Given the description of an element on the screen output the (x, y) to click on. 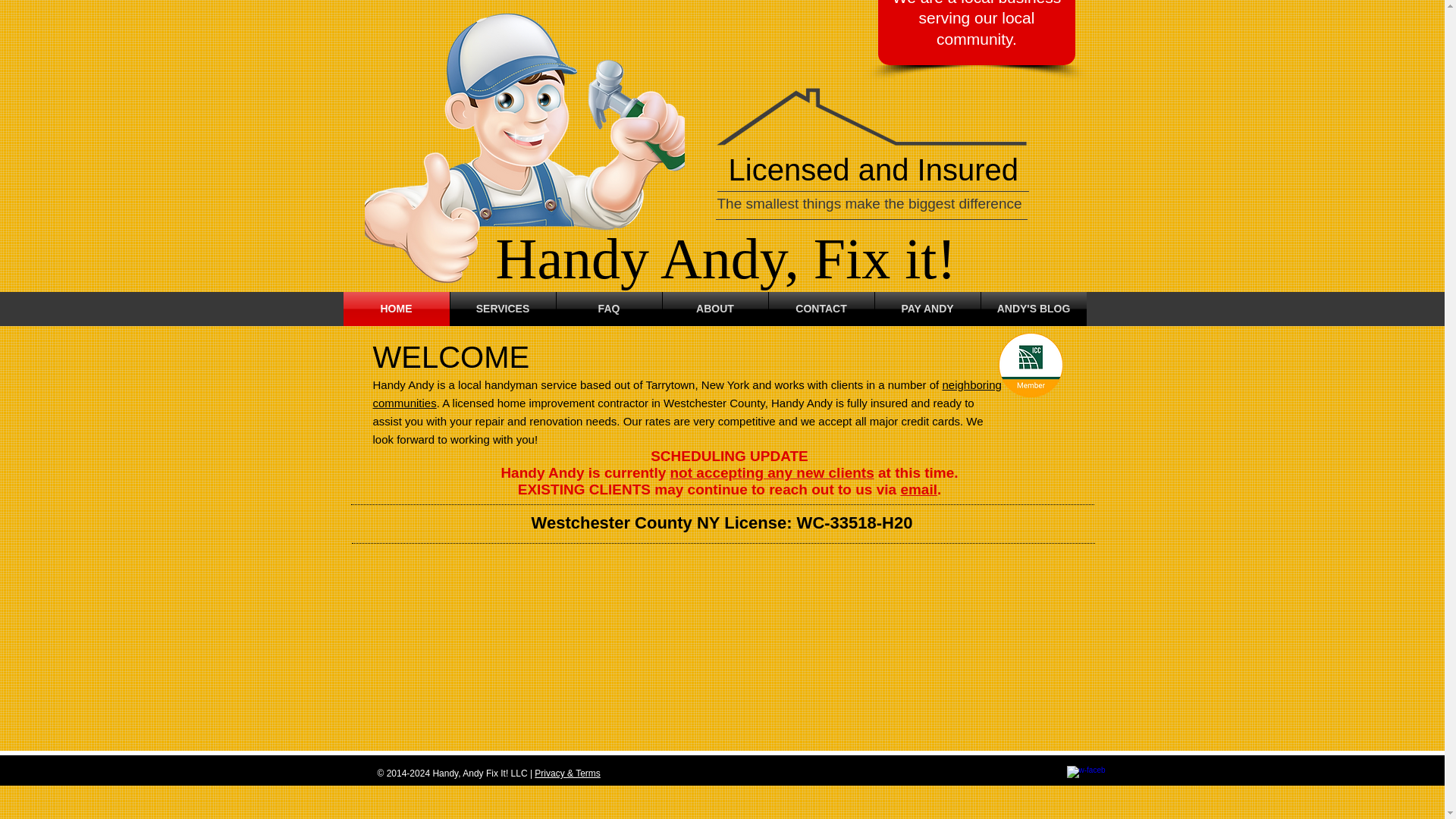
HOME (395, 308)
FAQ (609, 308)
ANDY'S BLOG (1033, 308)
SERVICES (502, 308)
neighboring communities (686, 393)
PAY ANDY (927, 308)
ABOUT (715, 308)
email (918, 489)
The smallest things make the biggest difference (869, 203)
CONTACT (821, 308)
